Given the description of an element on the screen output the (x, y) to click on. 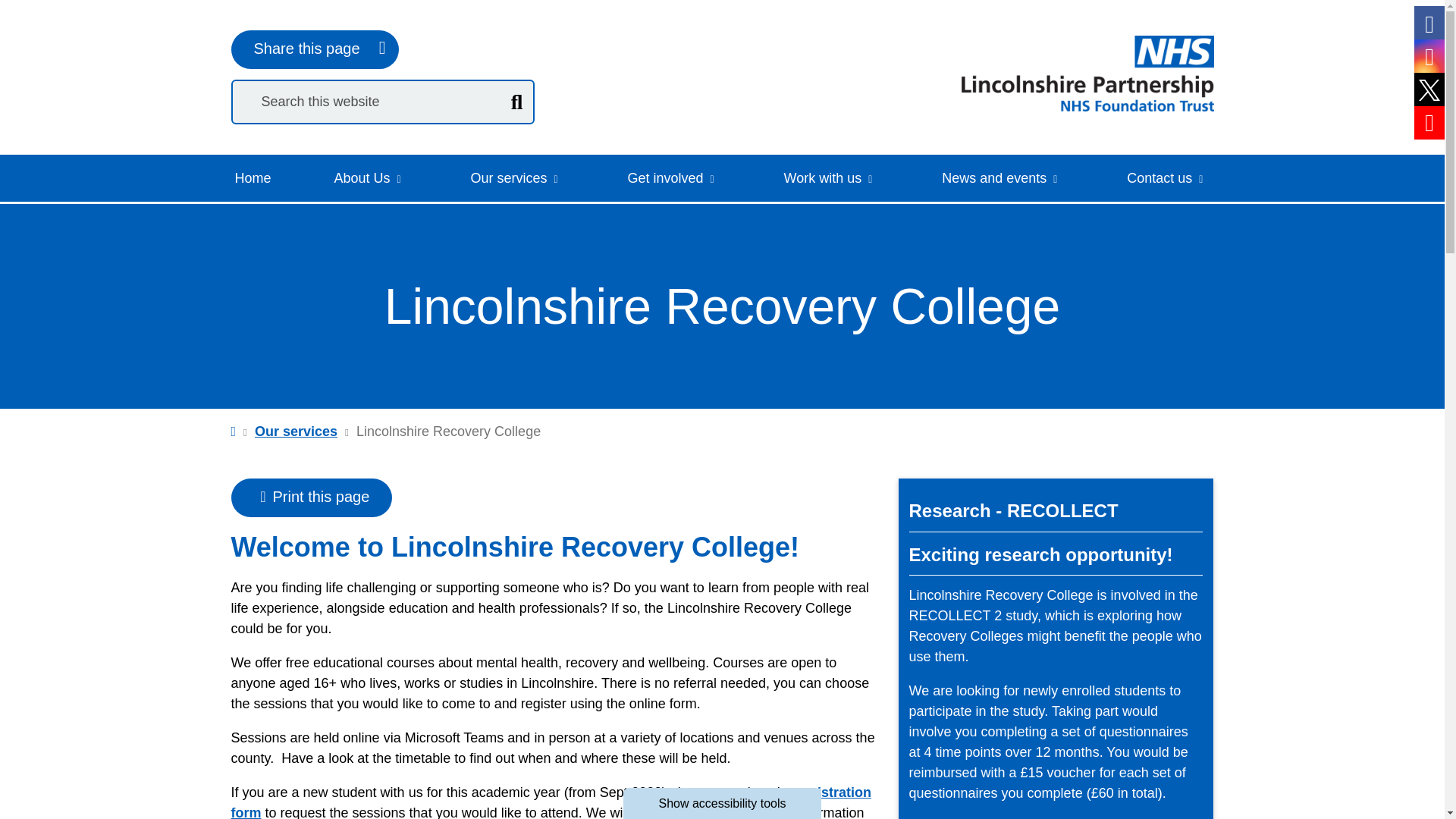
Homepage (1087, 73)
Home (252, 177)
About Us (366, 177)
Share this page (313, 49)
